Given the description of an element on the screen output the (x, y) to click on. 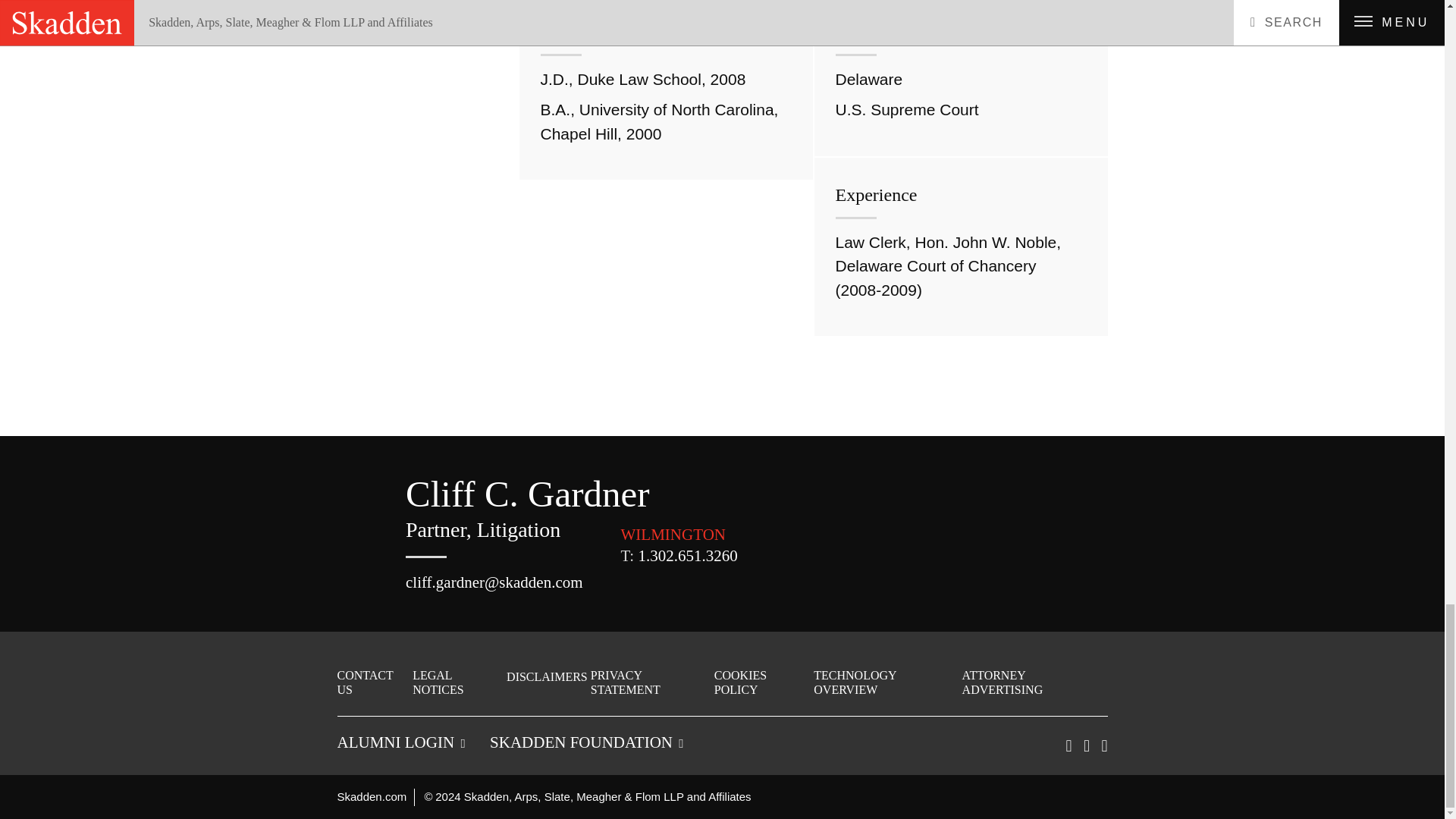
PRIVACY STATEMENT (651, 682)
CONTACT US (372, 682)
1.302.651.3260 (686, 556)
Navigate to Alumni Login section (400, 742)
WILMINGTON (673, 534)
COOKIES POLICY (762, 682)
Skadden's LinkedIn Page (1068, 745)
DISCLAIMERS (547, 676)
LEGAL NOTICES (457, 682)
Wilmington (673, 534)
Navigate to Skadden Foundation section (585, 742)
Skadden's Facebook Page (1103, 745)
Skadden's Twitter (1086, 745)
